Given the description of an element on the screen output the (x, y) to click on. 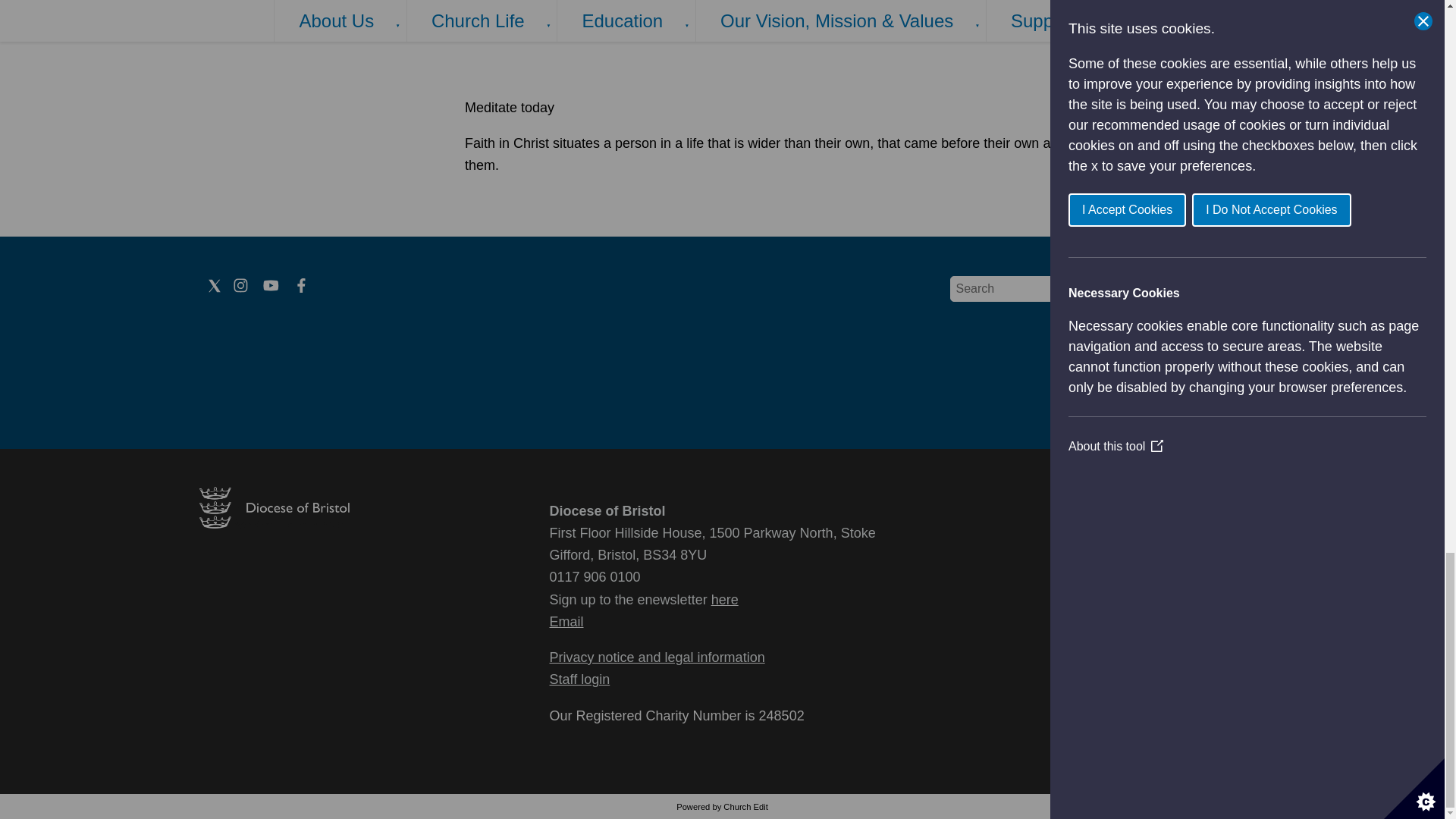
Diocese of Bristol Logo (273, 523)
